Given the description of an element on the screen output the (x, y) to click on. 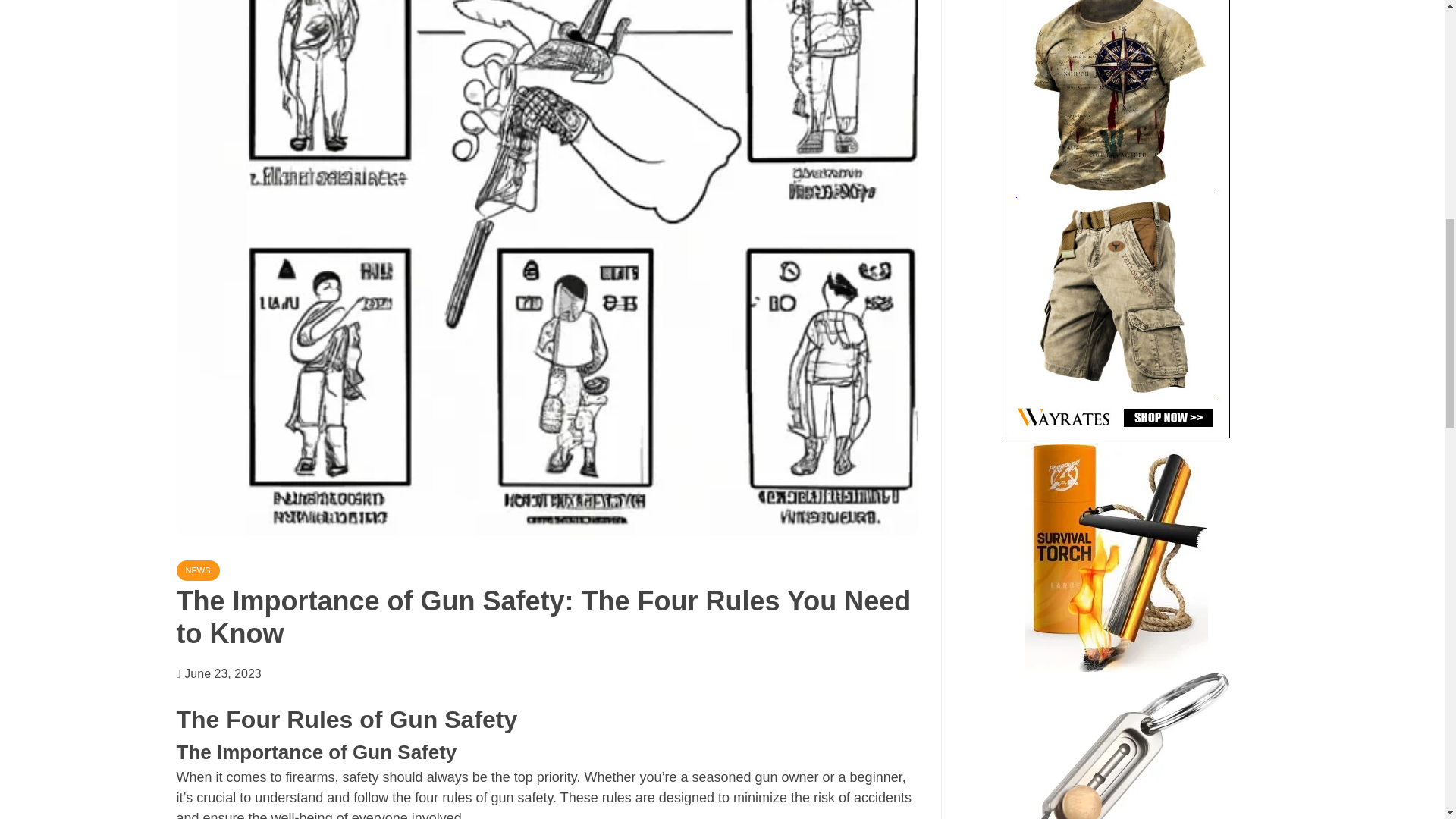
NEWS (197, 570)
June 23, 2023 (222, 673)
